Given the description of an element on the screen output the (x, y) to click on. 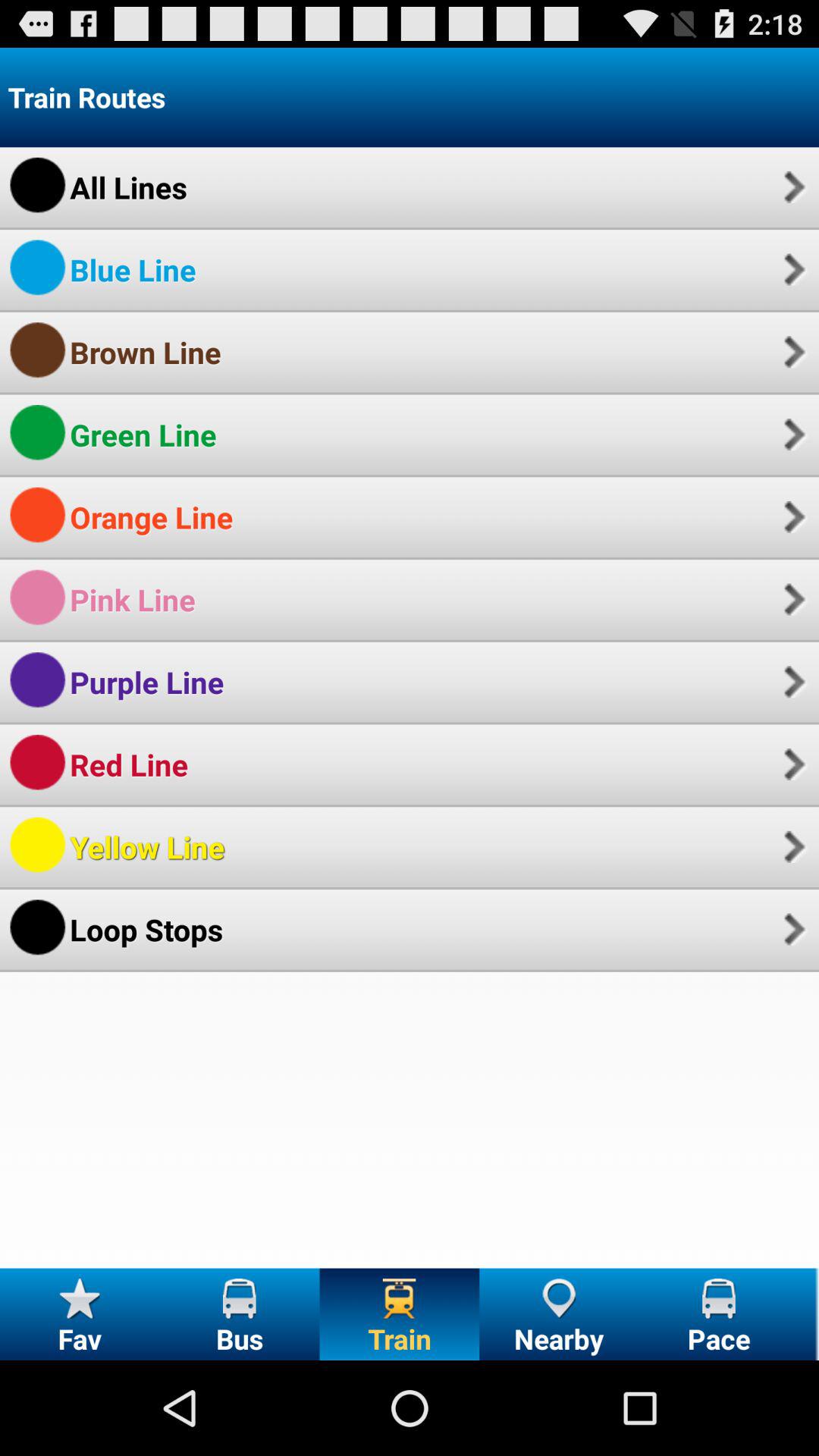
launch icon to the right of pink line item (792, 599)
